Given the description of an element on the screen output the (x, y) to click on. 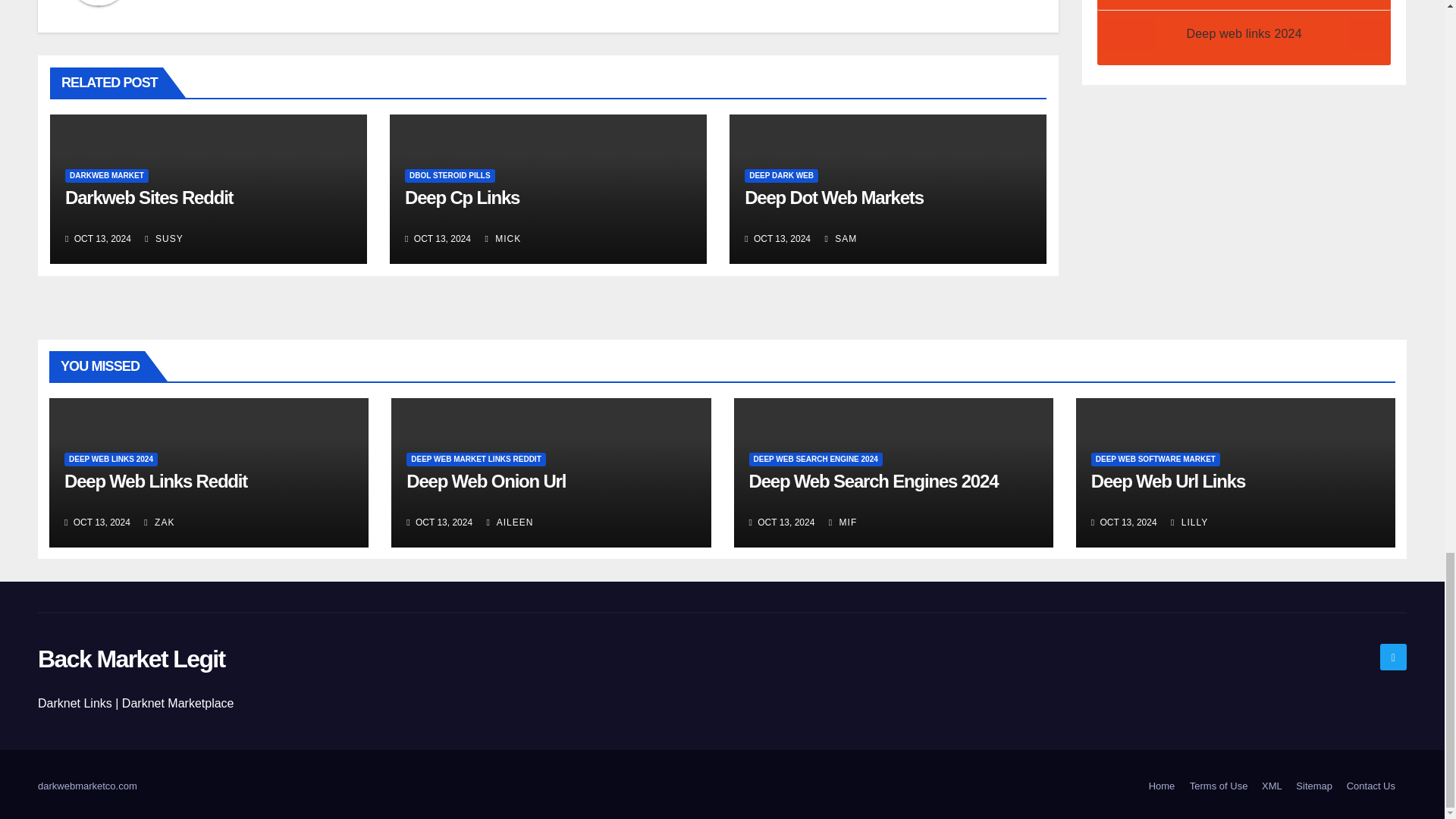
Permalink to: Darkweb Markets (148, 197)
Permalink to: Deep Dot Web Links (833, 197)
Permalink to: Decentralized Darknet Market (461, 197)
